Given the description of an element on the screen output the (x, y) to click on. 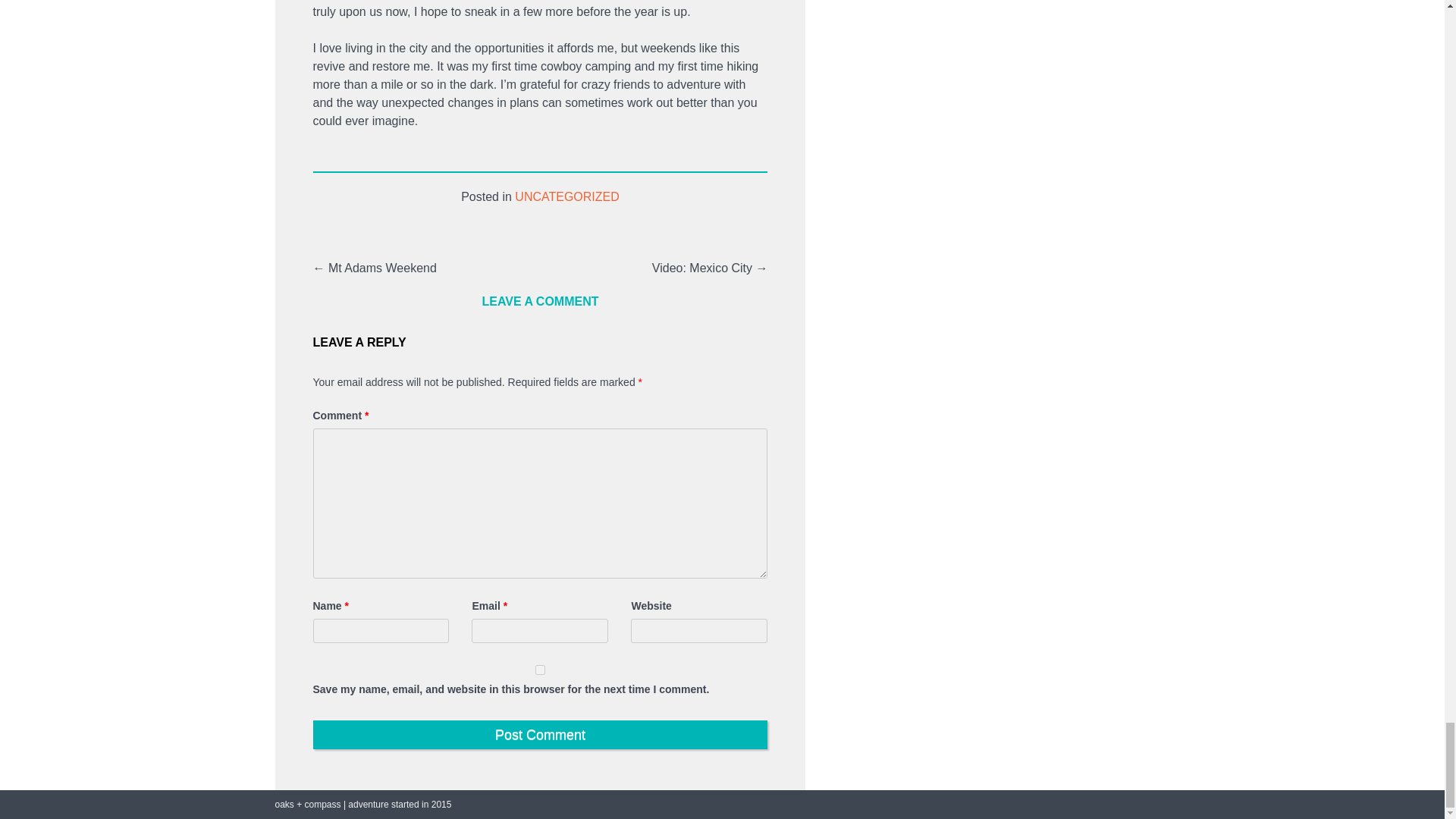
Post Comment (540, 734)
UNCATEGORIZED (566, 197)
yes (540, 669)
Post Comment (540, 734)
LEAVE A COMMENT (539, 300)
